Given the description of an element on the screen output the (x, y) to click on. 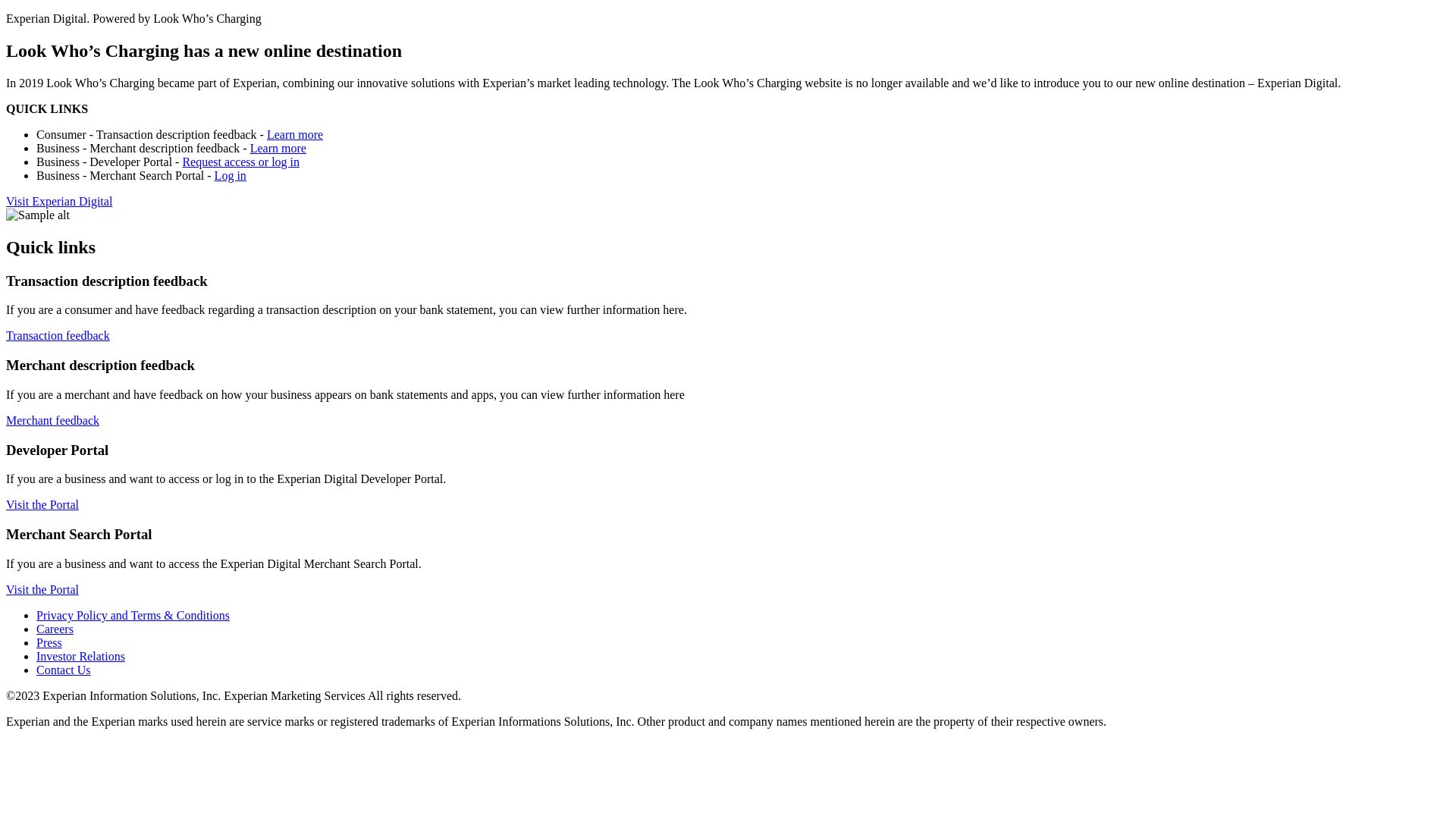
Transaction feedback Element type: text (57, 335)
Visit Experian Digital Element type: text (59, 200)
Investor Relations Element type: text (80, 655)
Contact Us Element type: text (63, 669)
Careers Element type: text (54, 628)
Visit the Portal Element type: text (42, 504)
Learn more Element type: text (294, 134)
Learn more Element type: text (278, 147)
Press Element type: text (49, 642)
Privacy Policy and Terms & Conditions Element type: text (132, 614)
Visit the Portal Element type: text (42, 589)
Request access or log in Element type: text (240, 161)
Log in Element type: text (230, 175)
Merchant feedback Element type: text (52, 420)
